Given the description of an element on the screen output the (x, y) to click on. 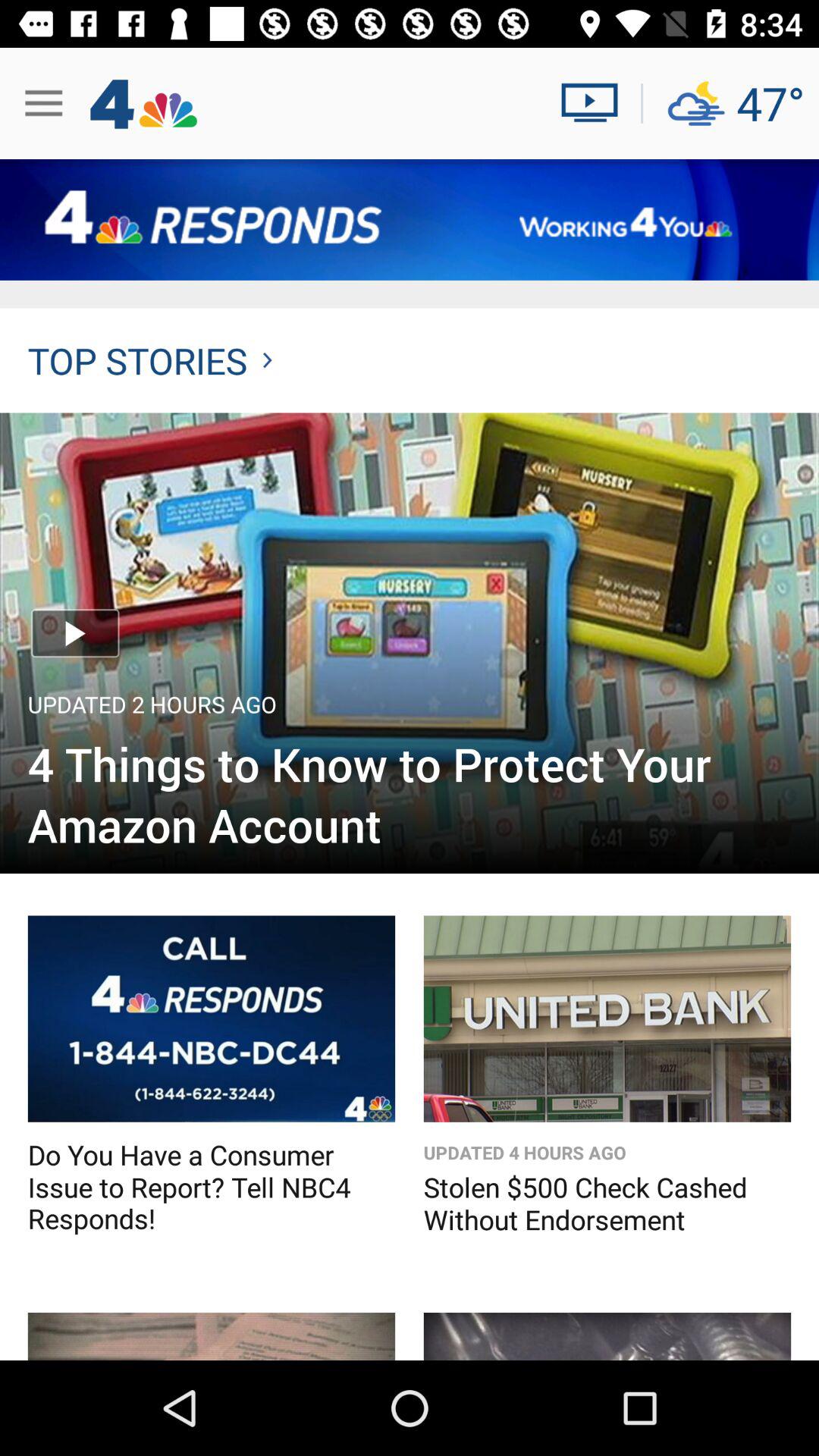
connect to monitor (595, 103)
